Given the description of an element on the screen output the (x, y) to click on. 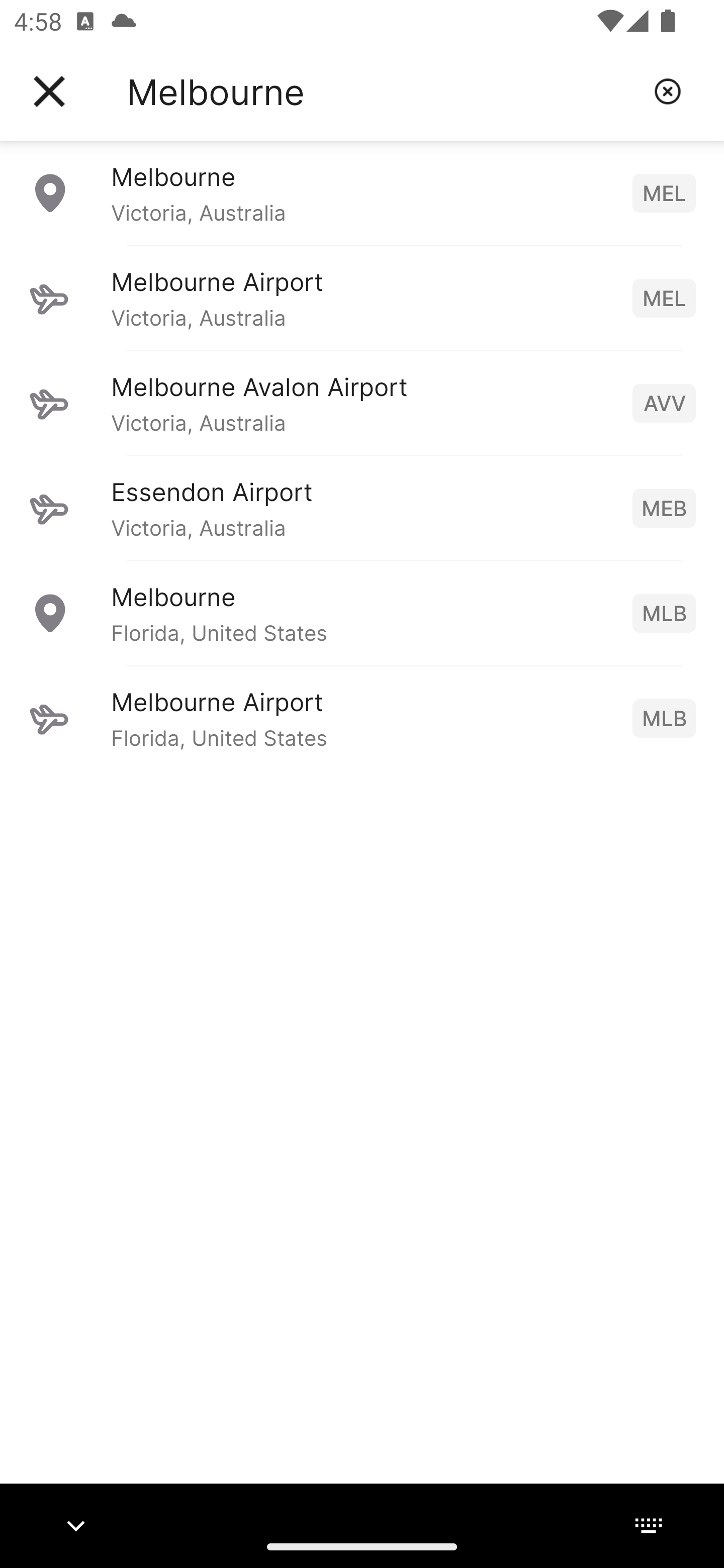
Melbourne (382, 91)
Melbourne Victoria, Australia MEL (362, 192)
Melbourne Airport Victoria, Australia MEL (362, 297)
Melbourne Avalon Airport Victoria, Australia AVV (362, 402)
Essendon Airport Victoria, Australia MEB (362, 507)
Melbourne Florida, United States MLB (362, 612)
Melbourne Airport Florida, United States MLB (362, 717)
